Given the description of an element on the screen output the (x, y) to click on. 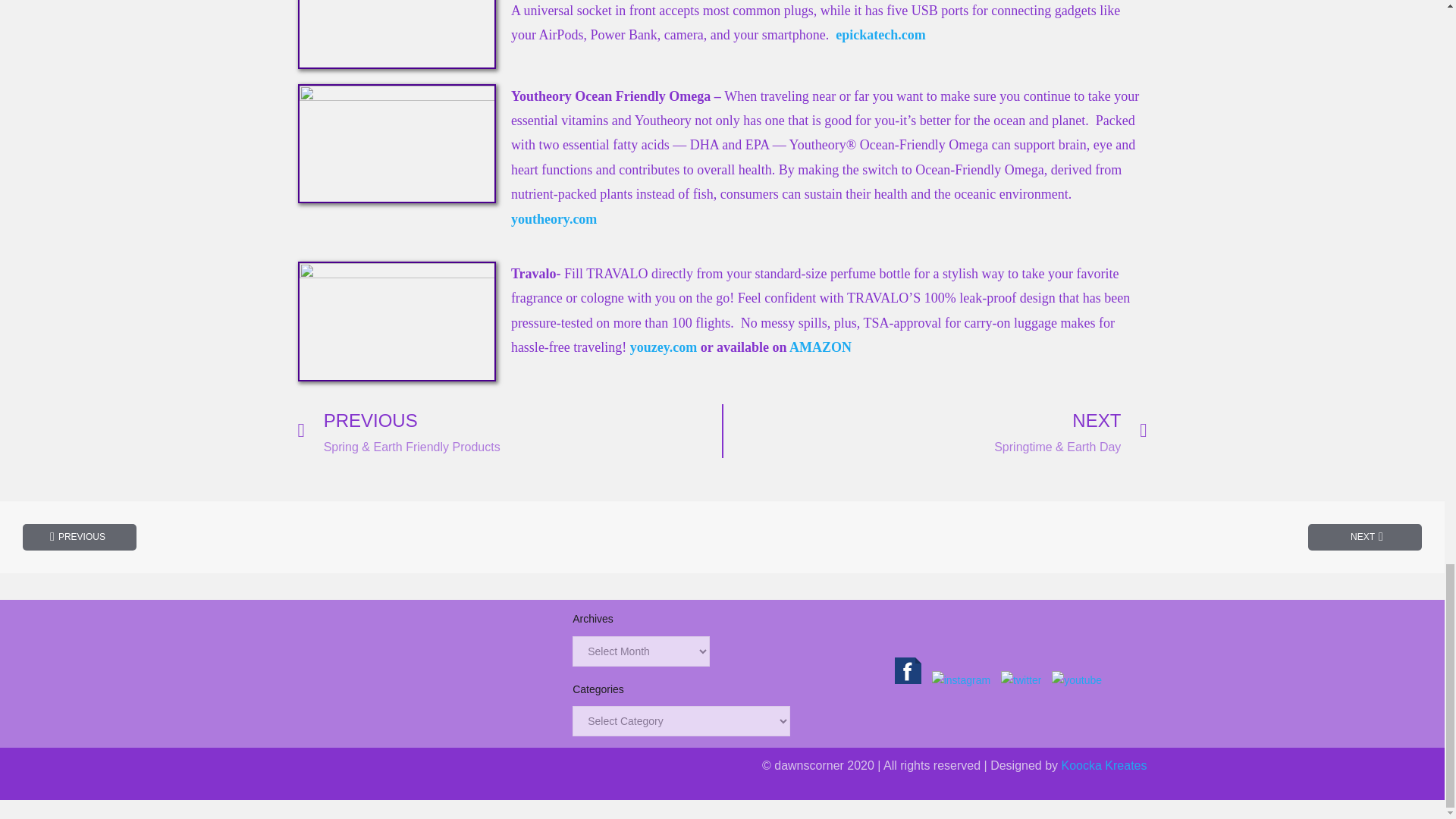
epickatech.com (879, 34)
youtheory.com (553, 218)
PREVIOUS (79, 537)
youzey.com (663, 346)
AMAZON (820, 346)
NEXT (1364, 537)
